Given the description of an element on the screen output the (x, y) to click on. 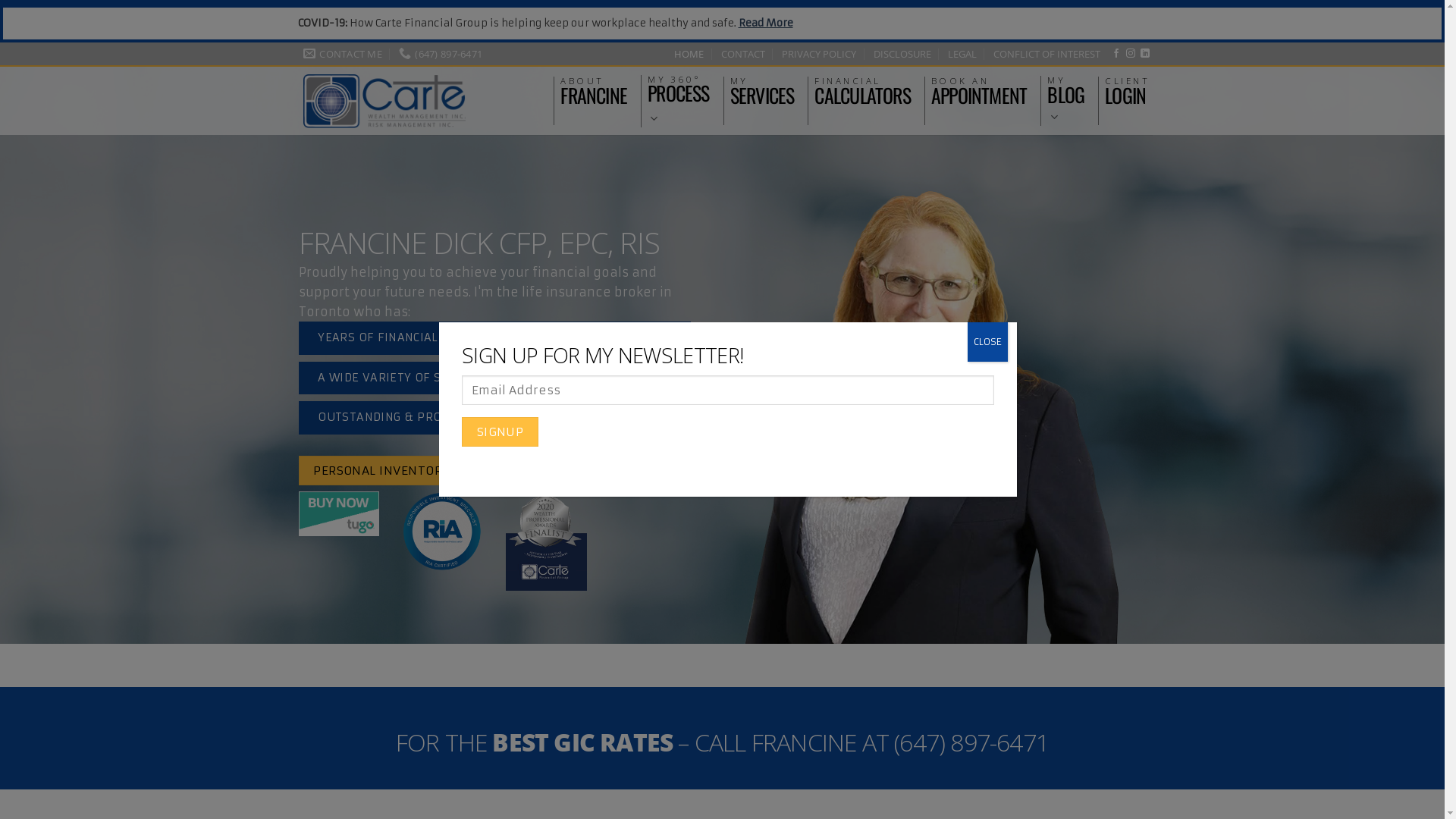
CLOSE Element type: text (987, 341)
DISCLOSURE Element type: text (902, 53)
CLIENT
LOGIN Element type: text (1126, 90)
Francine Dick - Your Carte Financial Advisor Element type: hover (384, 101)
(647) 897-6471 Element type: text (440, 53)
ABOUT
FRANCINE Element type: text (593, 91)
MY
SERVICES Element type: text (762, 90)
FINANCIAL
CALCULATORS Element type: text (862, 90)
CONTACT Element type: text (743, 53)
Signup Element type: text (499, 431)
CONTACT ME Element type: text (342, 53)
HOME Element type: text (688, 53)
BOOK AN
APPOINTMENT Element type: text (978, 90)
Follow on Instagram Element type: hover (1130, 53)
Follow on Facebook Element type: hover (1115, 53)
LEGAL Element type: text (961, 53)
Follow on LinkedIn Element type: hover (1144, 53)
PERSONAL INVENTORY OF ASSETS ESTATE CHECKLIST Element type: text (473, 470)
CONFLICT OF INTEREST Element type: text (1046, 53)
Read More Element type: text (765, 22)
MY
BLOG Element type: text (1065, 100)
PRIVACY POLICY Element type: text (818, 53)
